Given the description of an element on the screen output the (x, y) to click on. 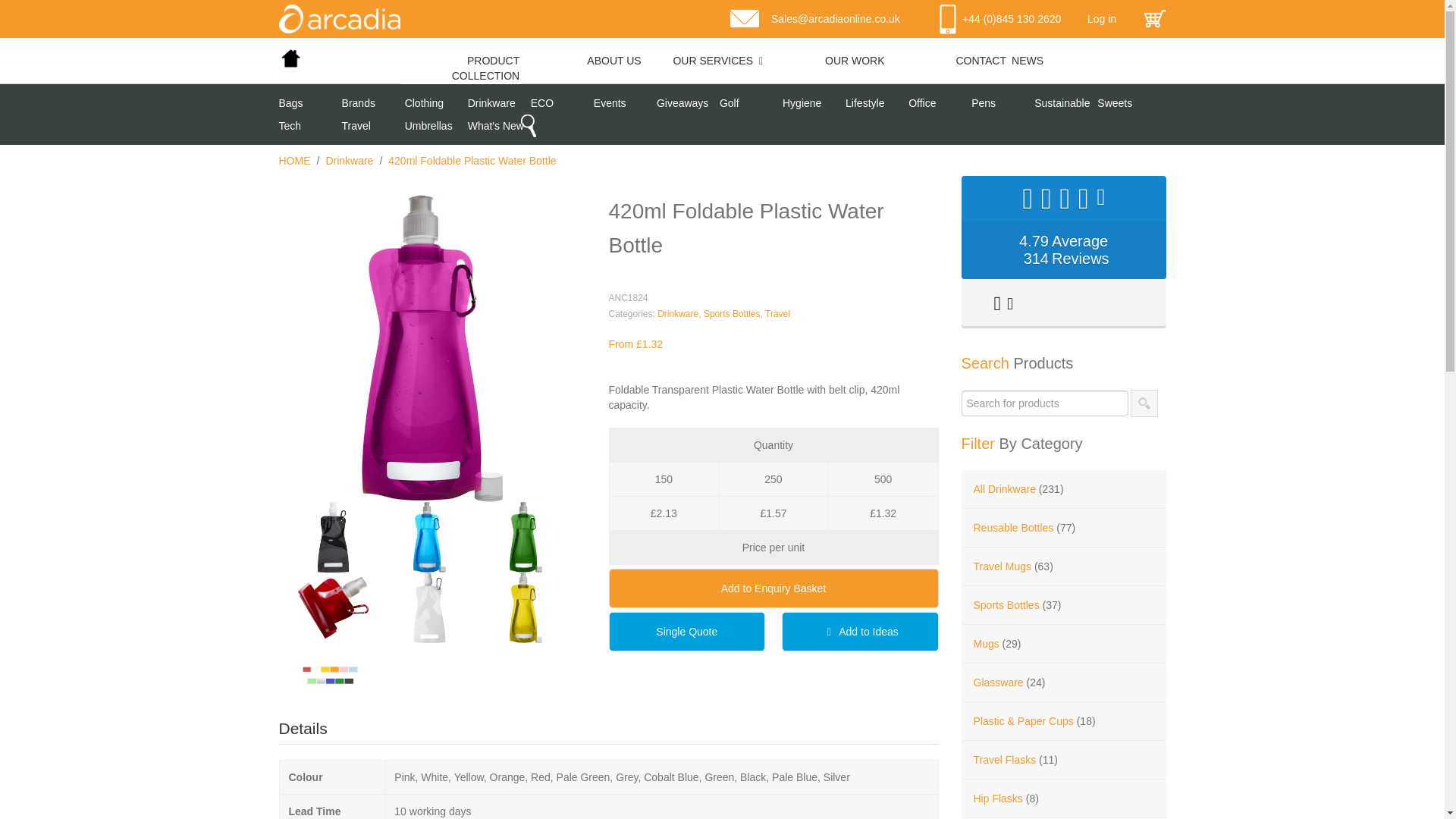
420ml Foldable Plastic Water Bottle (332, 677)
420ml Foldable Plastic Water Bottle (432, 348)
CONTACT (947, 60)
Brands (373, 102)
PRODUCT COLLECTION (460, 67)
420ml Foldable Plastic Water Bottle (429, 537)
Bags (310, 102)
420ml Foldable Plastic Water Bottle (332, 607)
420ml Foldable Plastic Water Bottle (525, 537)
ABOUT US (582, 60)
